Given the description of an element on the screen output the (x, y) to click on. 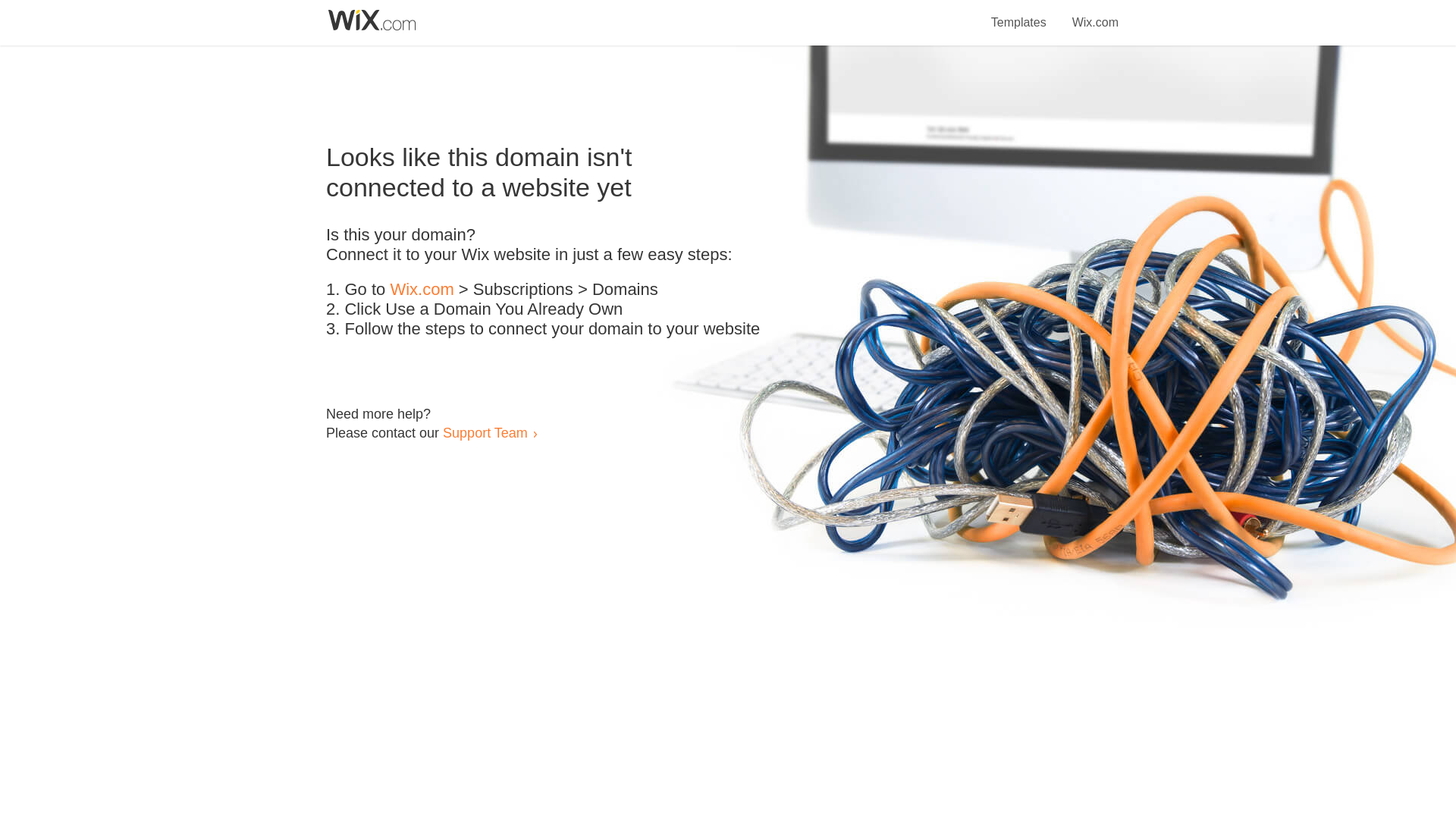
Wix.com (1095, 14)
Templates (1018, 14)
Support Team (484, 432)
Wix.com (421, 289)
